Given the description of an element on the screen output the (x, y) to click on. 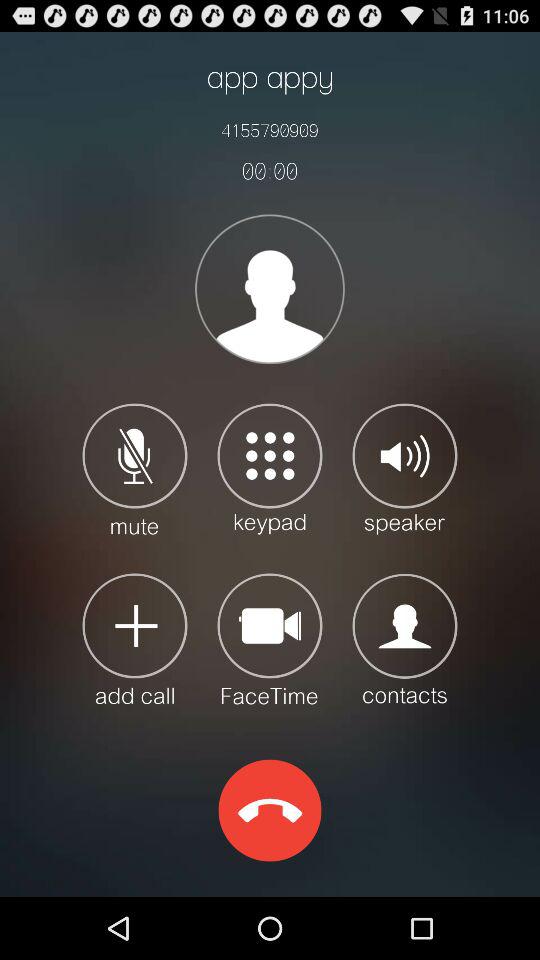
make new call (134, 638)
